Given the description of an element on the screen output the (x, y) to click on. 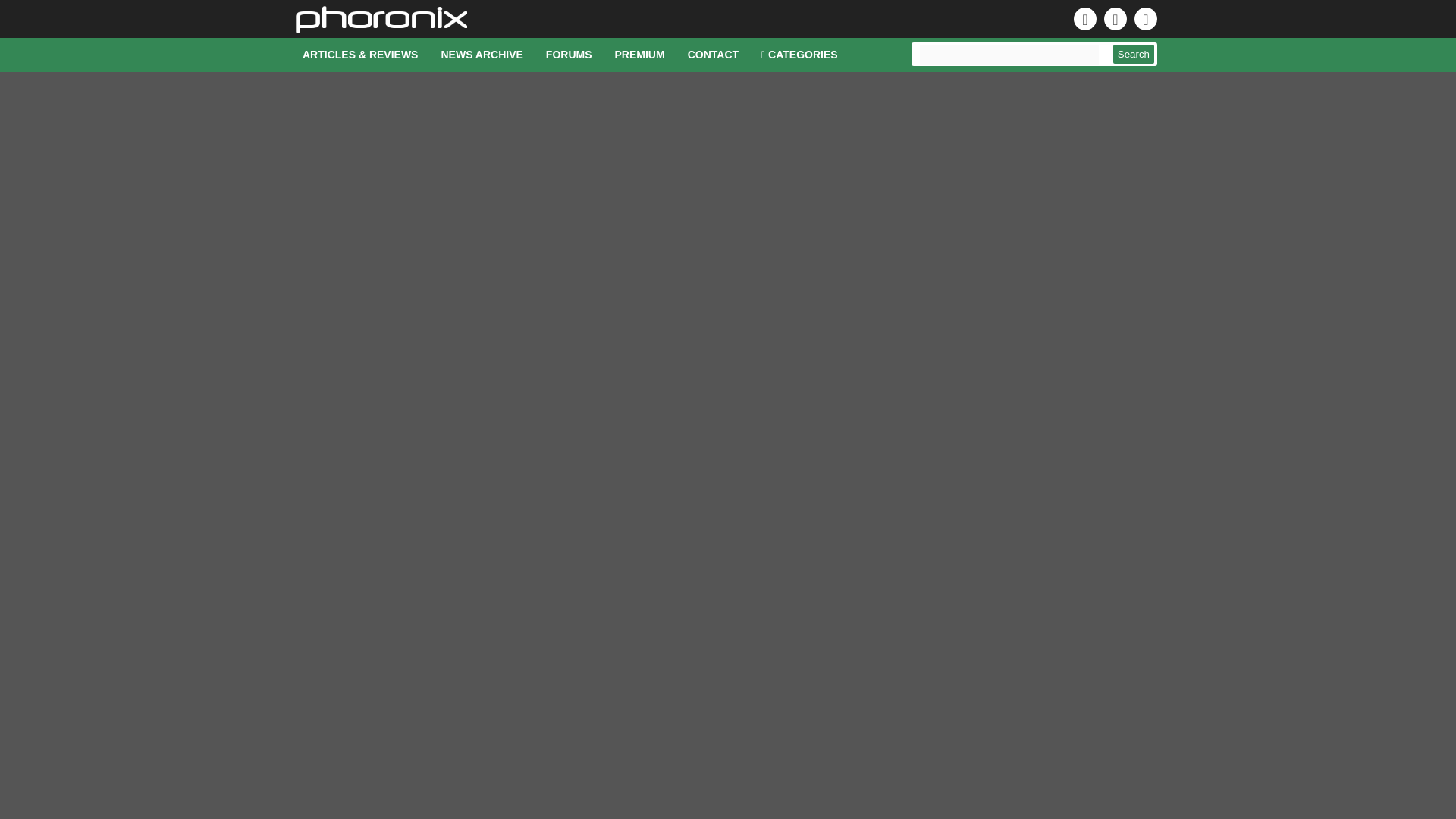
NEWS ARCHIVE (481, 54)
Search (1133, 54)
FORUMS (569, 54)
CONTACT (713, 54)
PREMIUM (640, 54)
Search (1133, 54)
